Given the description of an element on the screen output the (x, y) to click on. 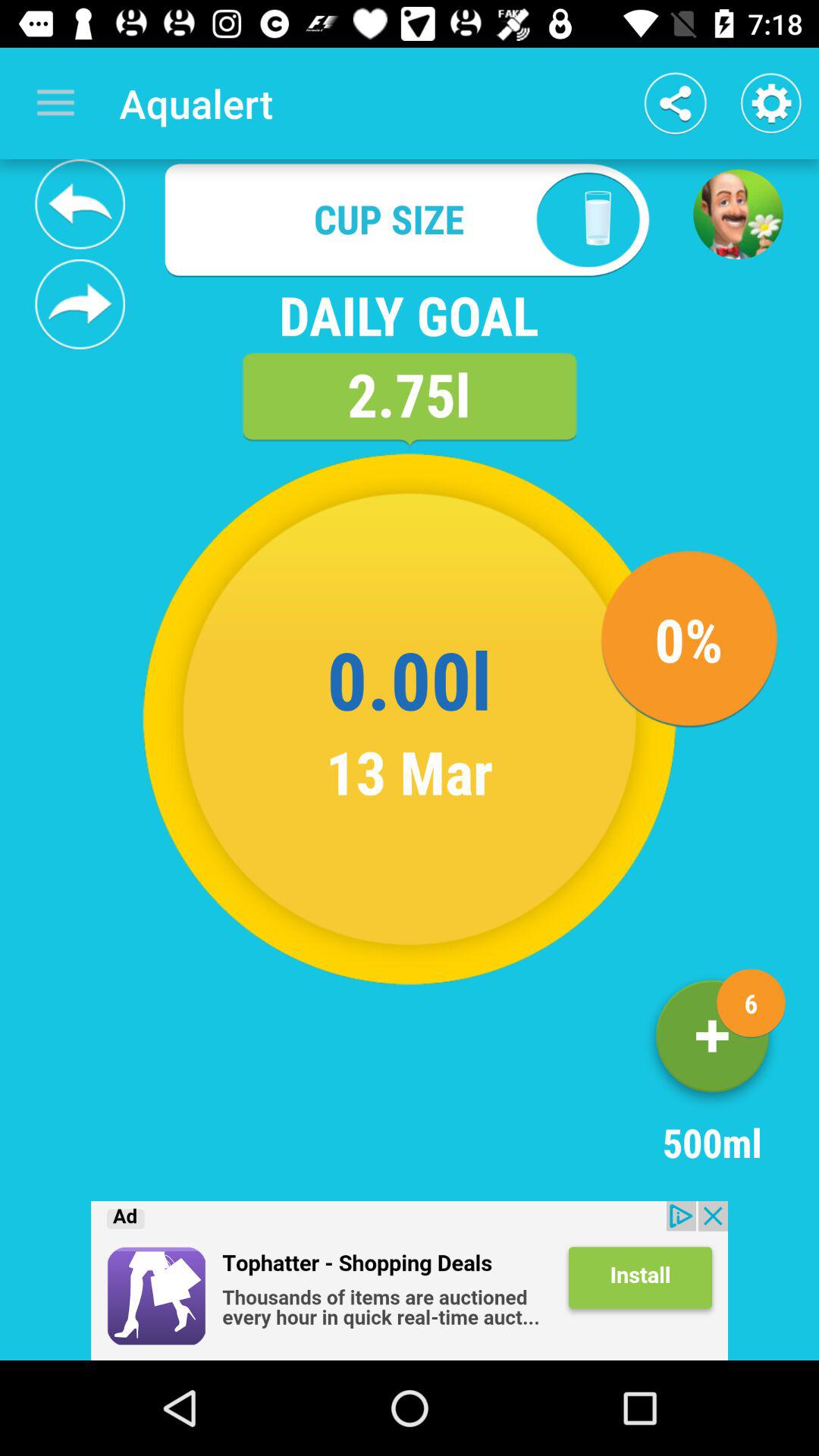
add more (712, 1041)
